Given the description of an element on the screen output the (x, y) to click on. 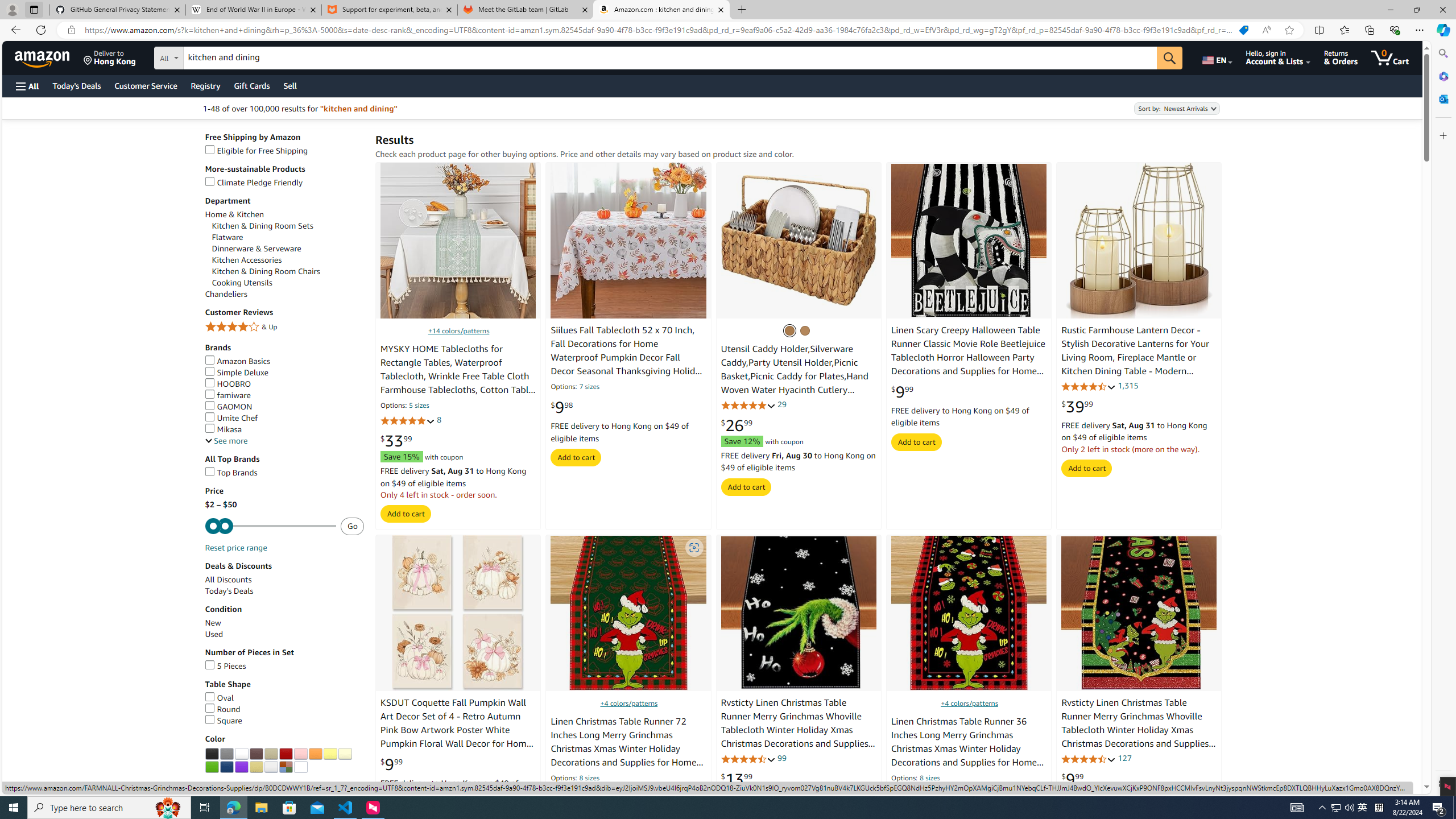
4 Stars & Up& Up (284, 327)
AutomationID: p_n_feature_twenty_browse-bin/3254103011 (285, 753)
Eligible for Free Shipping (284, 150)
All Discounts (284, 579)
AutomationID: p_n_feature_twenty_browse-bin/3254099011 (226, 753)
Kitchen & Dining Room Sets (287, 225)
Orange (314, 753)
